Given the description of an element on the screen output the (x, y) to click on. 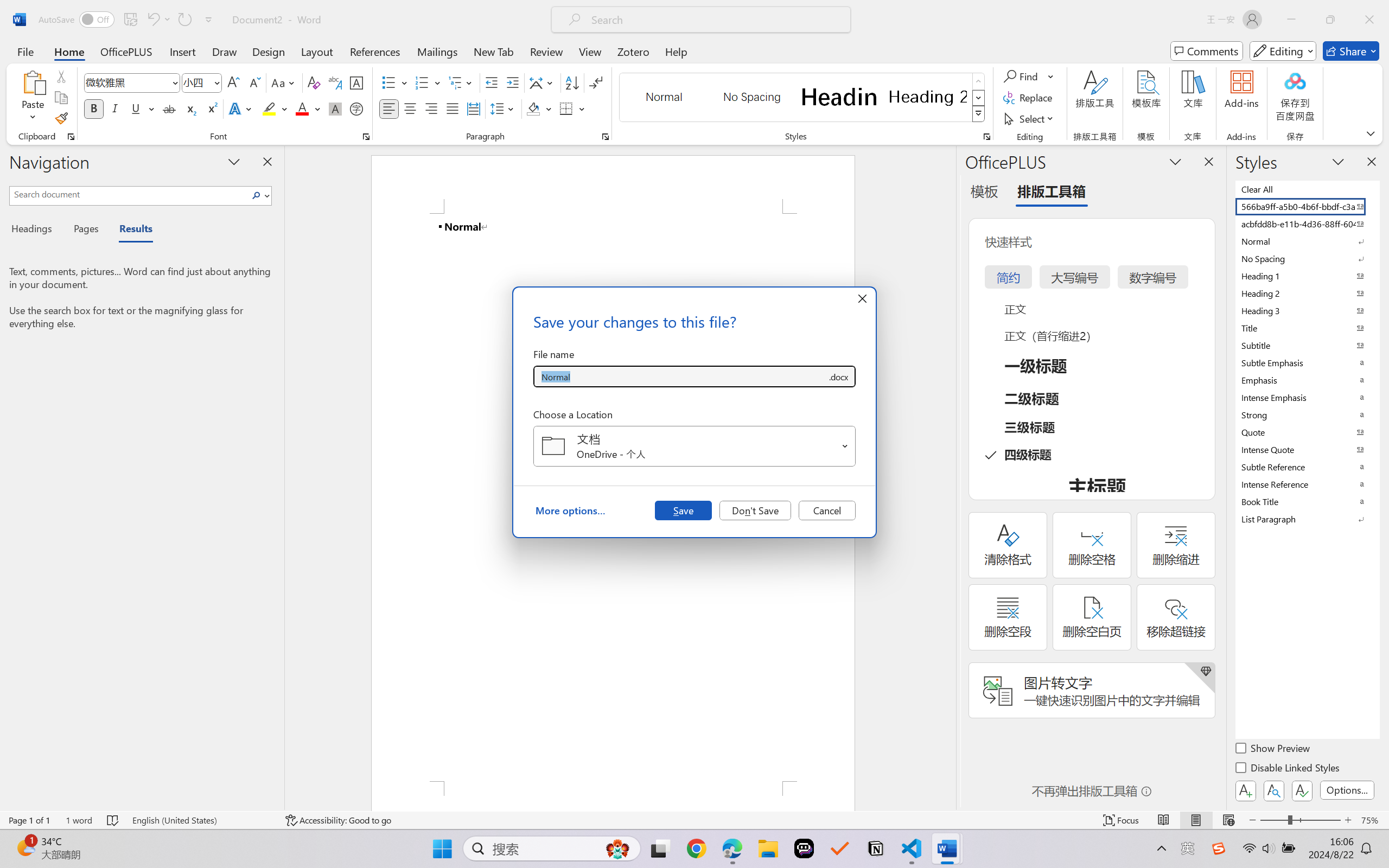
Distributed (473, 108)
AutomationID: BadgeAnchorLargeTicker (24, 847)
Zotero (632, 51)
Styles... (986, 136)
Task Pane Options (1175, 161)
Cut (60, 75)
Row up (978, 81)
Align Left (388, 108)
Word Count 1 word (78, 819)
Subtle Emphasis (1306, 362)
Undo <ApplyStyleToDoc>b__0 (158, 19)
